Given the description of an element on the screen output the (x, y) to click on. 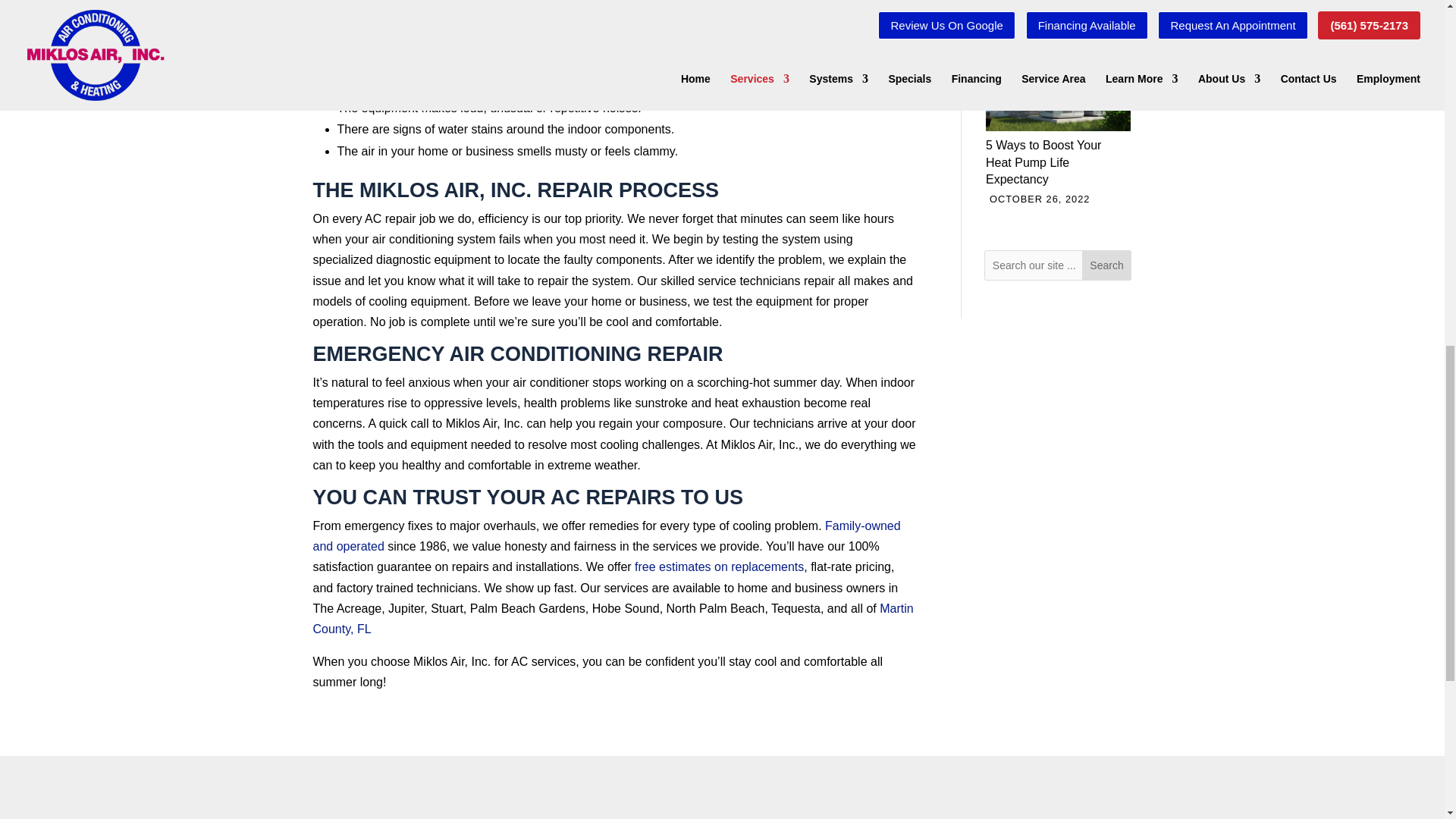
Martin County, FL (612, 618)
Family-owned and operated (606, 535)
free estimates on replacements (718, 566)
3 Signs of An Inefficient Heat Pump in Jupiter, FL (1058, 2)
